Given the description of an element on the screen output the (x, y) to click on. 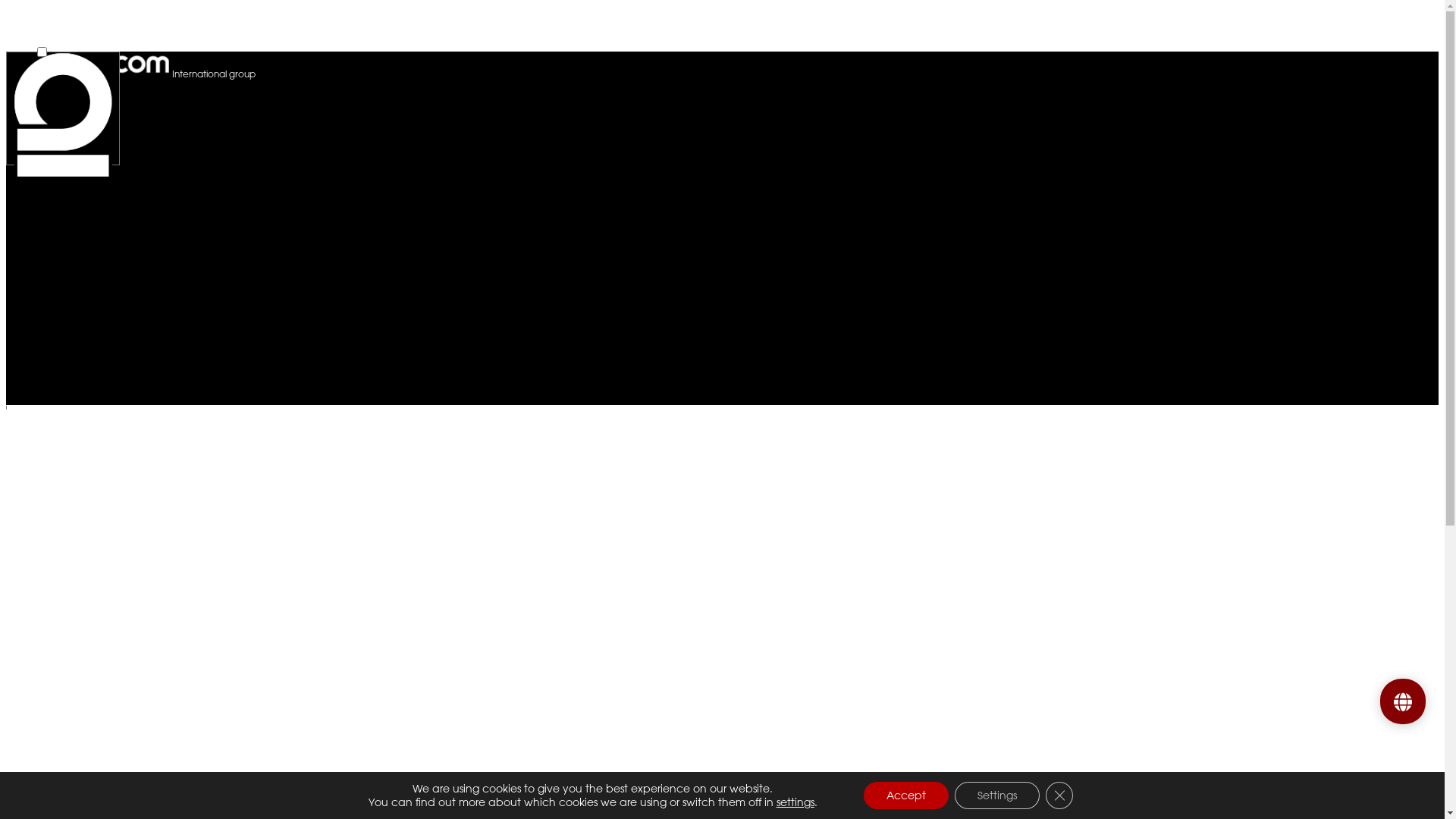
Accept Element type: text (905, 795)
Settings Element type: text (996, 795)
Shop Element type: text (1350, 21)
Close GDPR Cookie Banner Element type: text (1059, 795)
settings Element type: text (795, 802)
